Given the description of an element on the screen output the (x, y) to click on. 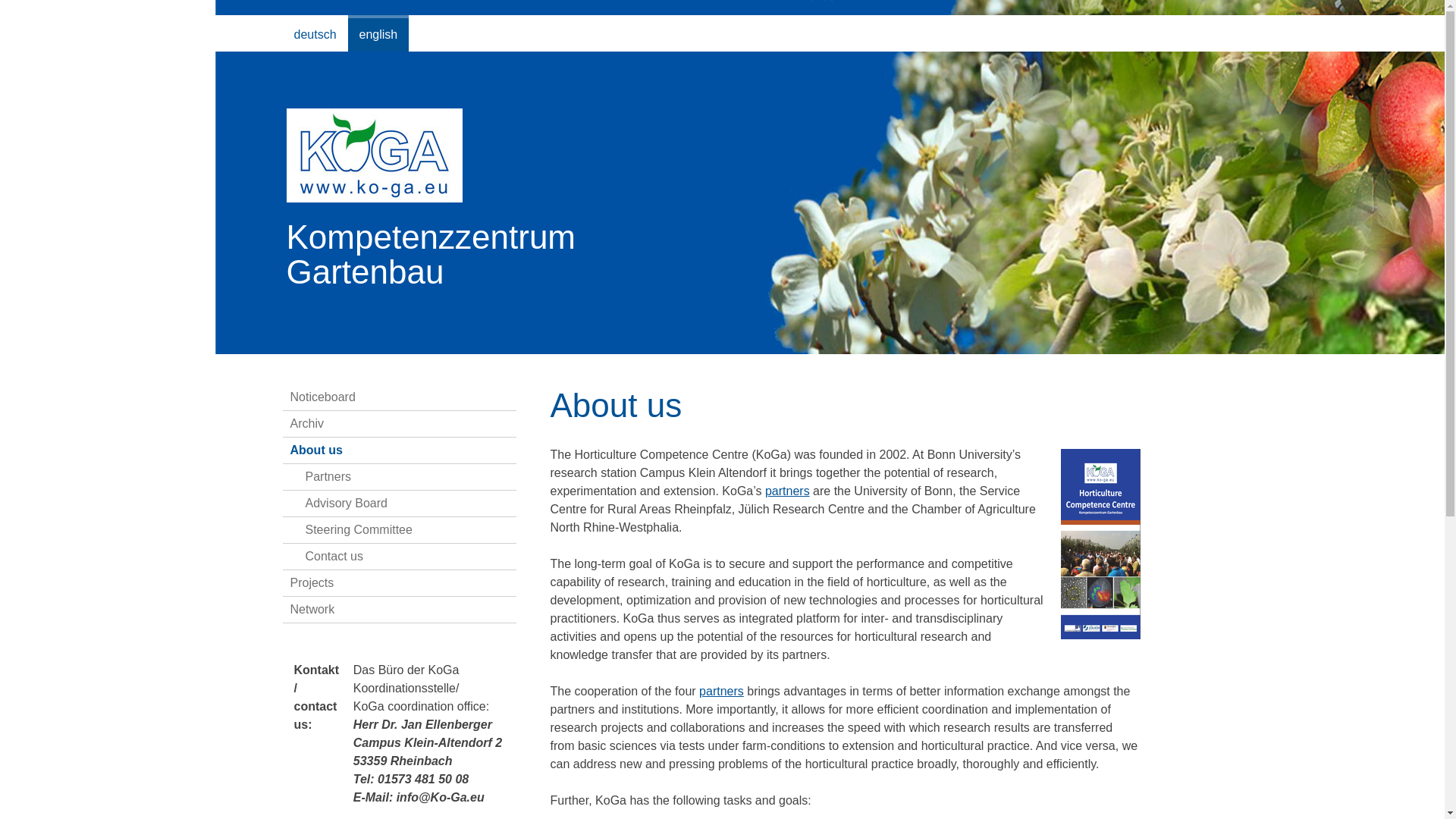
Partners (398, 477)
Steering Committee (398, 529)
partners (787, 490)
Noticeboard (398, 397)
Advisory Board (398, 503)
Partners (721, 690)
Network (398, 610)
english (378, 33)
deutsch (314, 33)
About us (398, 450)
